Given the description of an element on the screen output the (x, y) to click on. 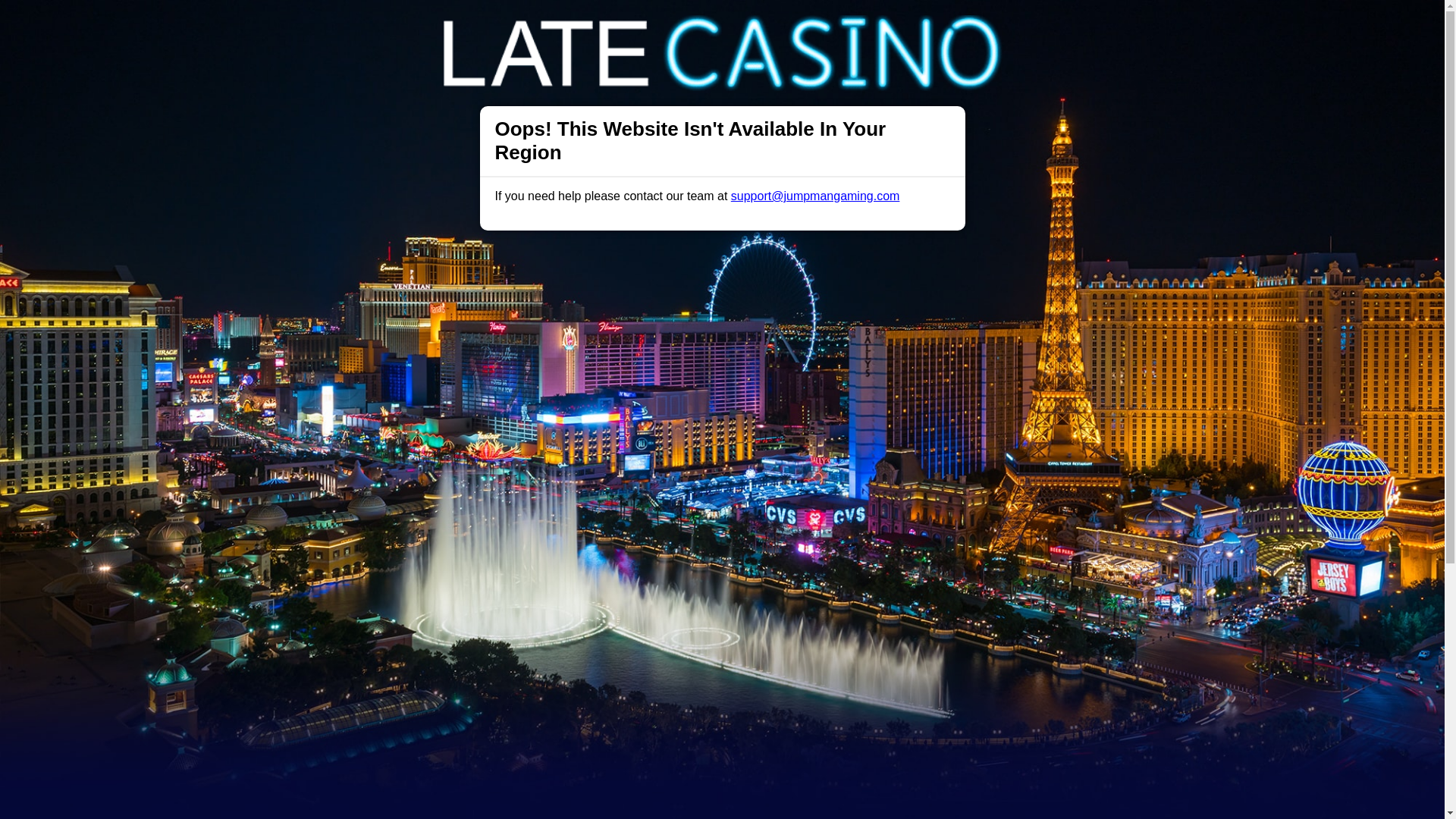
Back To All Games (722, 755)
Promotions (583, 26)
Login (960, 26)
Join Now (1053, 26)
Casino Slots (662, 26)
Back To All Games (721, 755)
Trophies (515, 26)
